Given the description of an element on the screen output the (x, y) to click on. 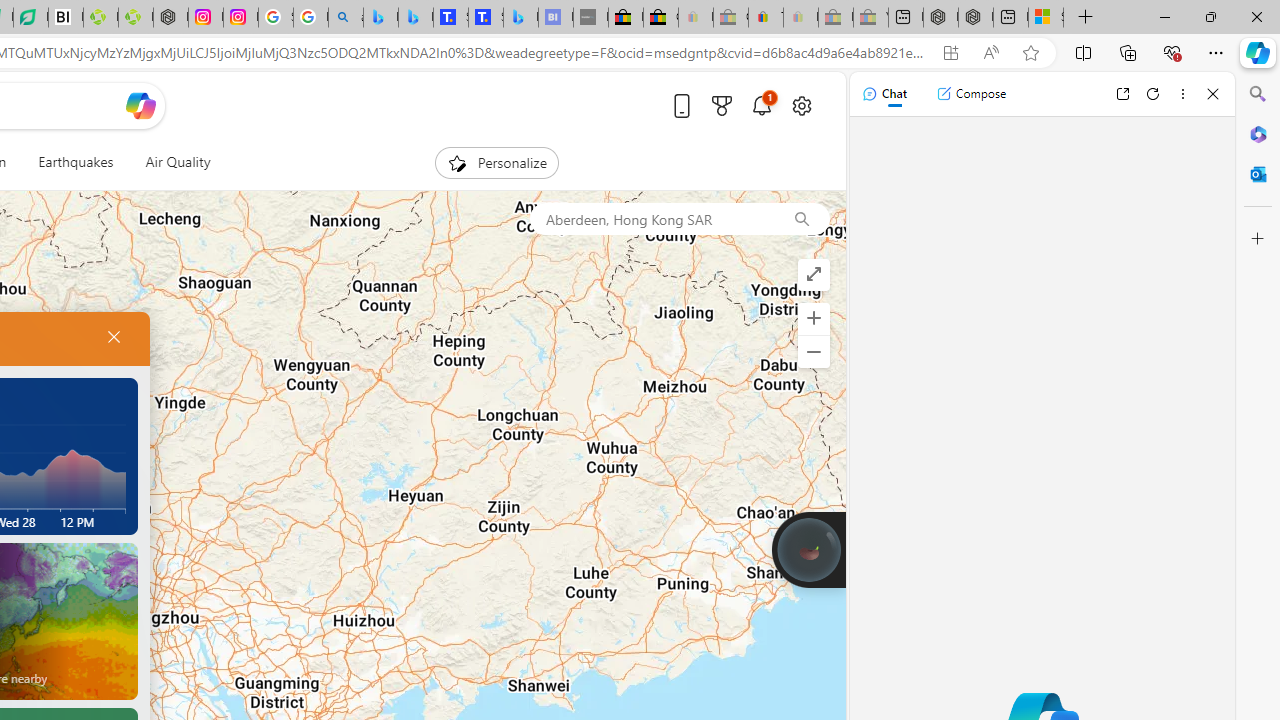
Aberdeen, Hong Kong SAR (651, 218)
Shangri-La Bangkok, Hotel reviews and Room rates (485, 17)
App available. Install Microsoft Start Weather (950, 53)
LendingTree - Compare Lenders (31, 17)
Earthquakes (75, 162)
Press Room - eBay Inc. - Sleeping (835, 17)
Zoom out (813, 351)
